Given the description of an element on the screen output the (x, y) to click on. 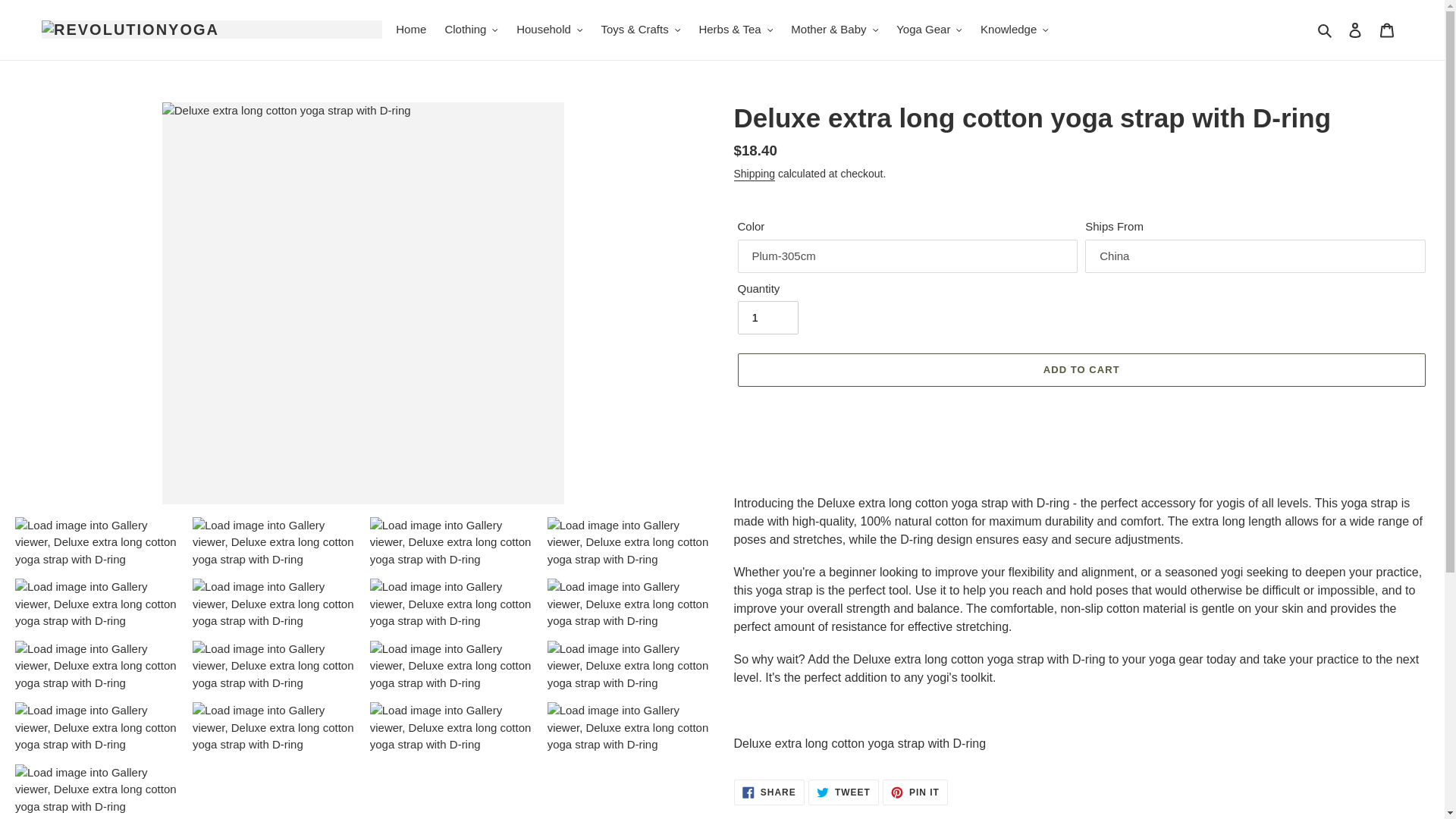
Home (410, 29)
Clothing (470, 29)
Household (548, 29)
1 (766, 317)
